Given the description of an element on the screen output the (x, y) to click on. 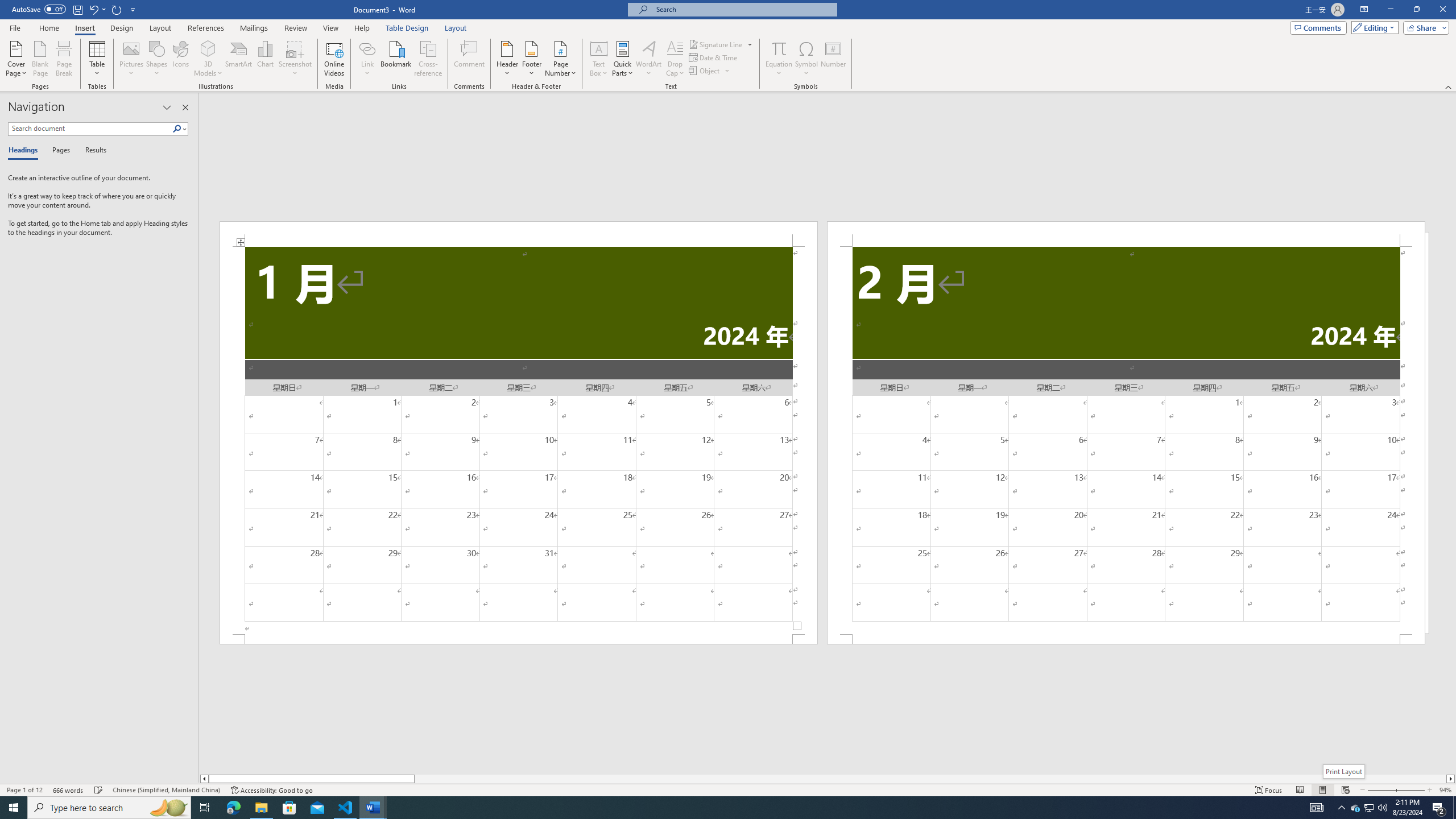
SmartArt... (238, 58)
Signature Line (721, 44)
Bookmark... (396, 58)
3D Models (208, 58)
Cover Page (16, 58)
Footer -Section 2- (1126, 638)
Page 2 content (1126, 439)
Word Count 666 words (68, 790)
Language Chinese (Simplified, Mainland China) (165, 790)
